Given the description of an element on the screen output the (x, y) to click on. 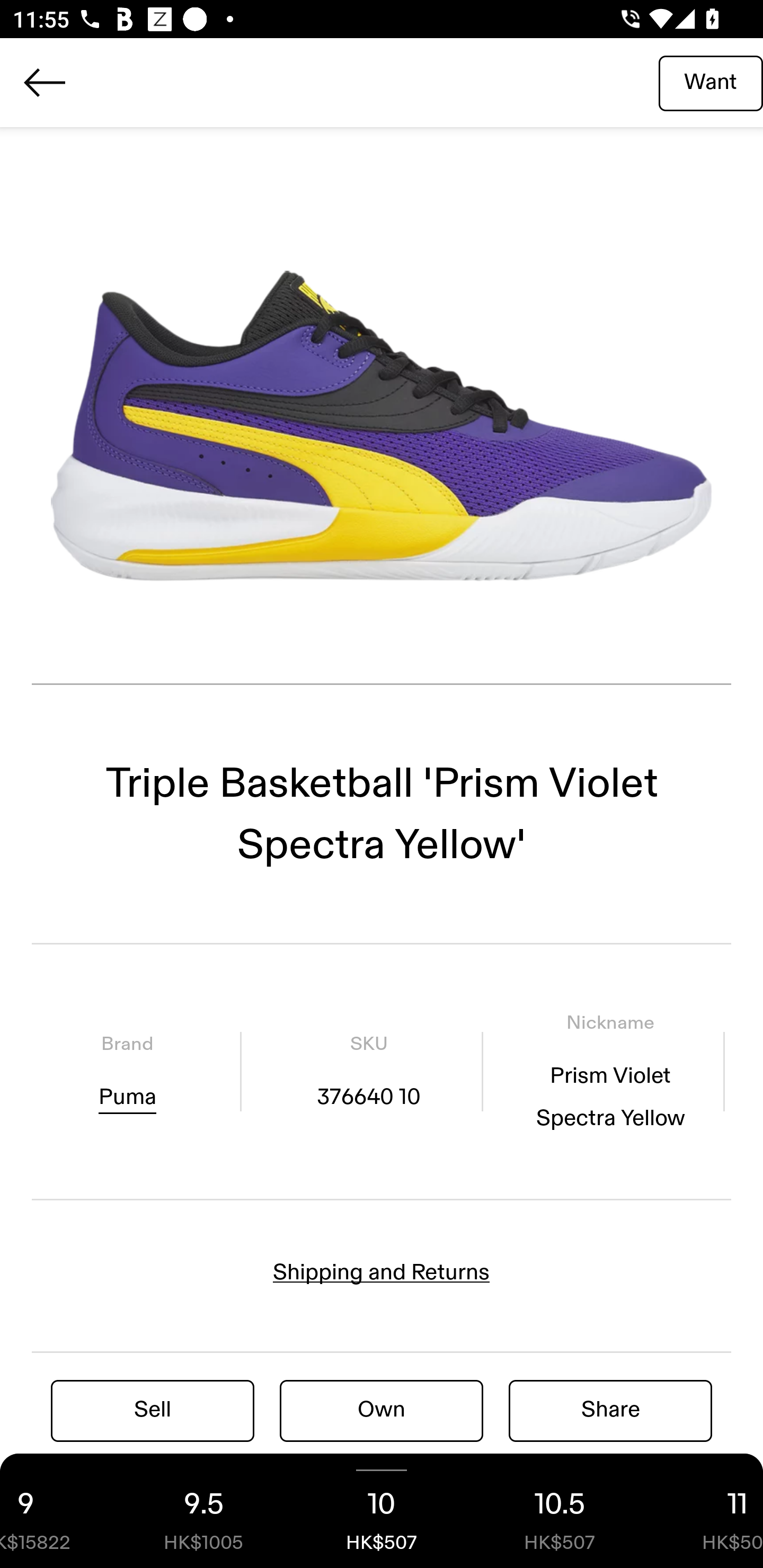
Want (710, 82)
Brand Puma (126, 1070)
SKU 376640 10 (368, 1070)
Nickname Prism Violet Spectra Yellow (609, 1070)
Shipping and Returns (381, 1272)
Sell (152, 1410)
Own (381, 1410)
Share (609, 1410)
9 HK$15822 (57, 1510)
9.5 HK$1005 (203, 1510)
10 HK$507 (381, 1510)
10.5 HK$507 (559, 1510)
11 HK$507 (705, 1510)
